Given the description of an element on the screen output the (x, y) to click on. 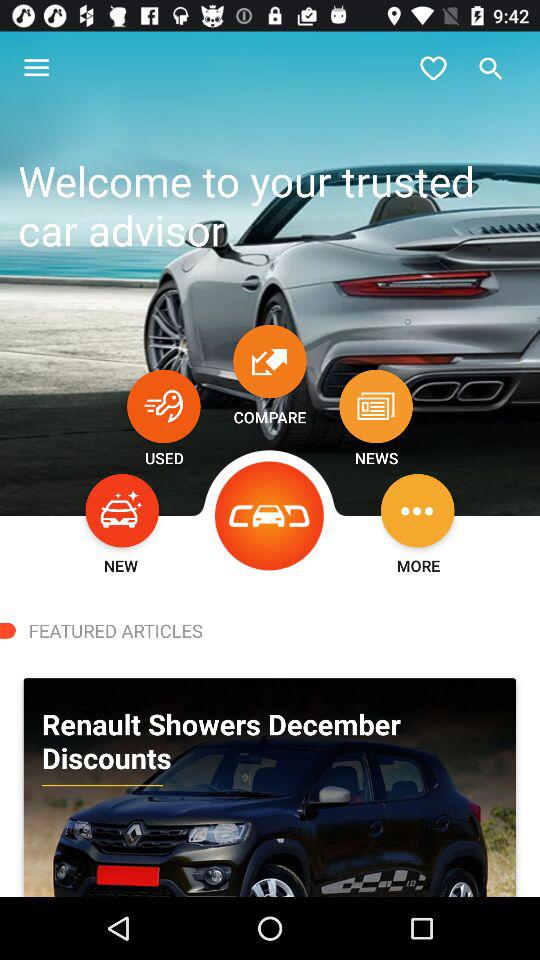
search (491, 68)
